Given the description of an element on the screen output the (x, y) to click on. 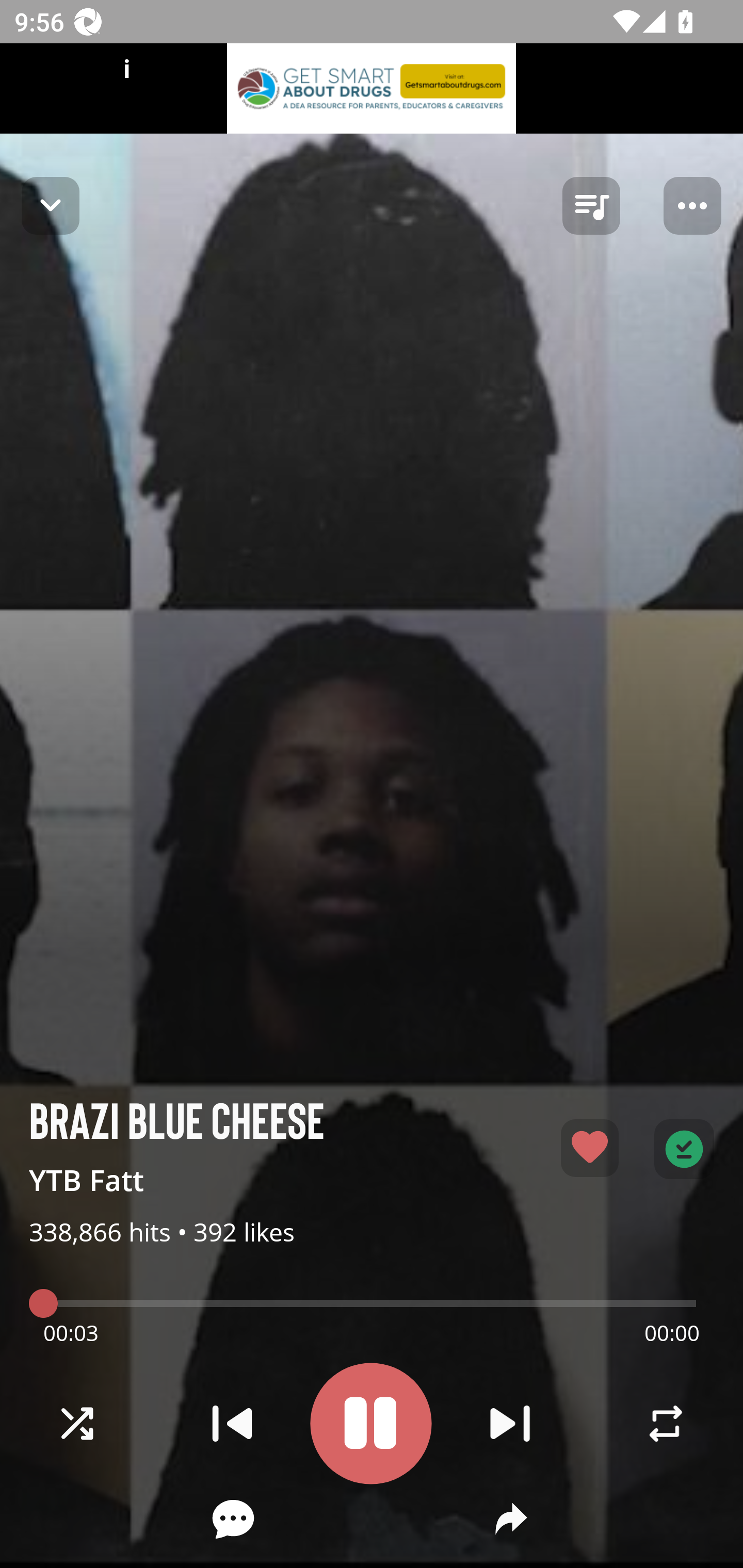
Navigate up (50, 205)
queue (590, 206)
Player options (692, 206)
